Given the description of an element on the screen output the (x, y) to click on. 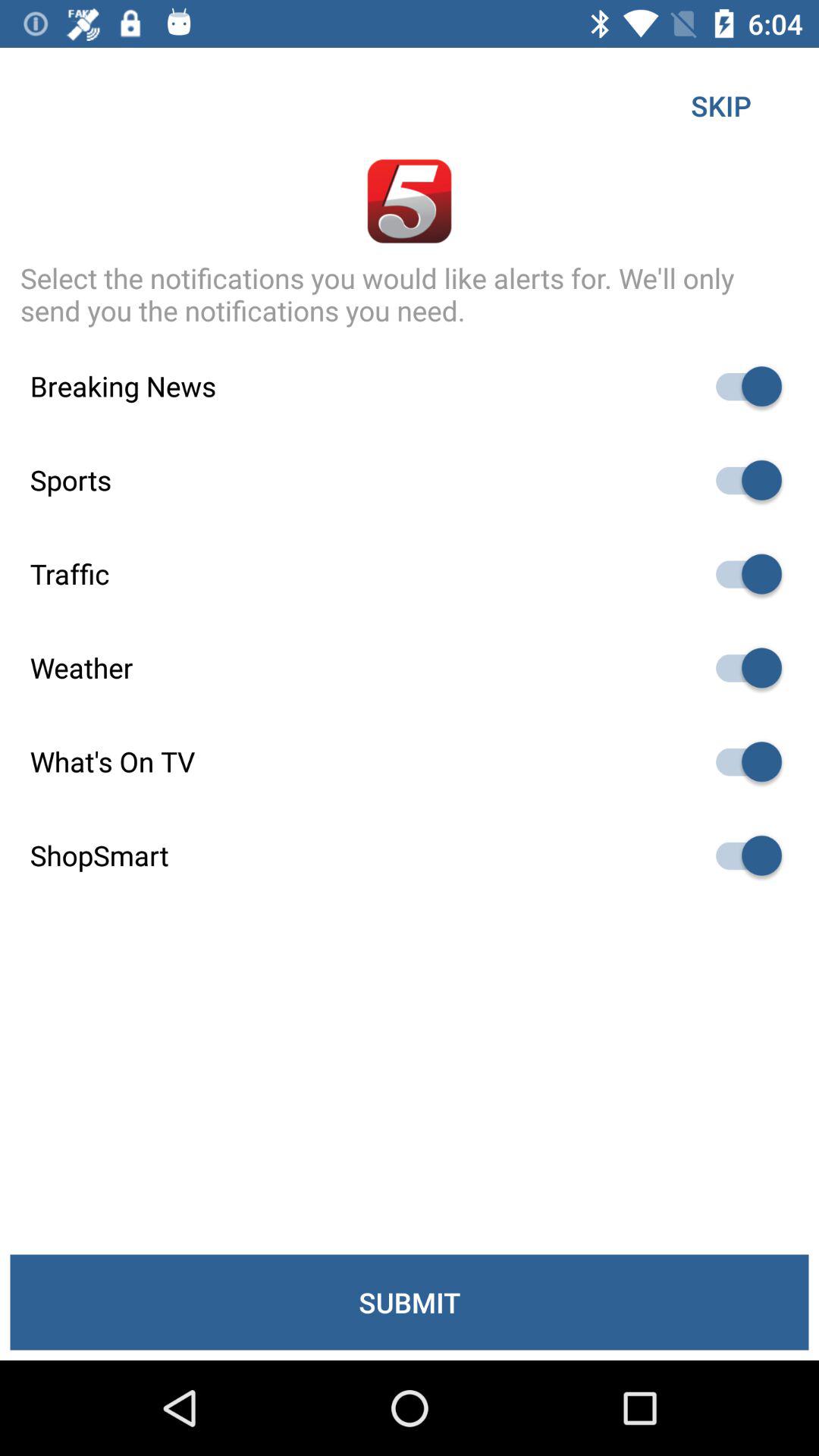
television programming toggle on (741, 761)
